Given the description of an element on the screen output the (x, y) to click on. 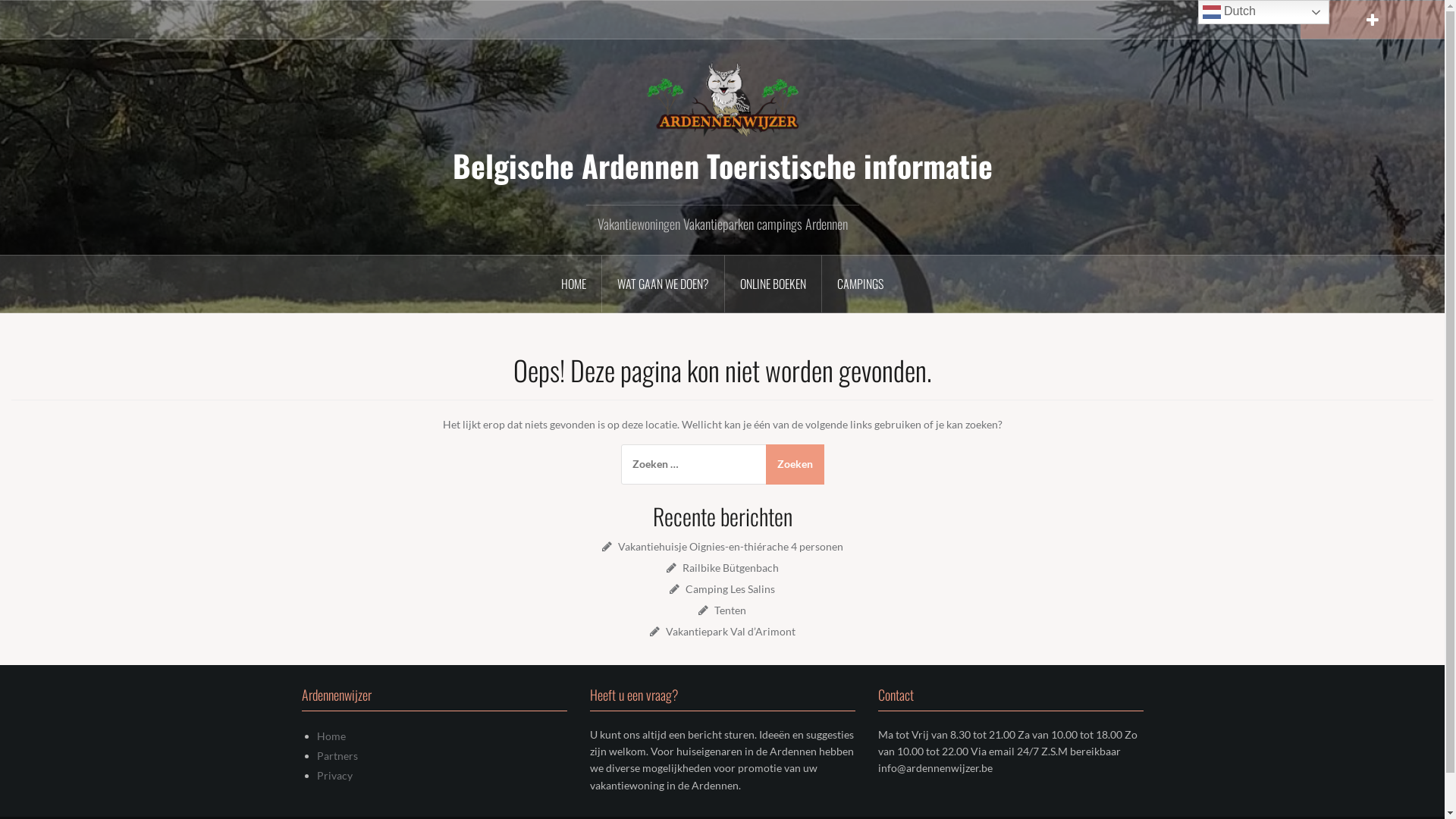
Partners Element type: text (336, 755)
Privacy Element type: text (334, 774)
Belgische Ardennen Toeristische informatie Element type: hover (721, 97)
Camping Les Salins Element type: text (730, 588)
Home Element type: text (330, 735)
Zoeken Element type: text (794, 463)
CAMPINGS Element type: text (860, 284)
HOME Element type: text (574, 284)
Dutch Element type: text (1263, 12)
Tenten Element type: text (730, 609)
ONLINE BOEKEN Element type: text (773, 284)
Belgische Ardennen Toeristische informatie Element type: text (721, 165)
WAT GAAN WE DOEN? Element type: text (663, 284)
